Given the description of an element on the screen output the (x, y) to click on. 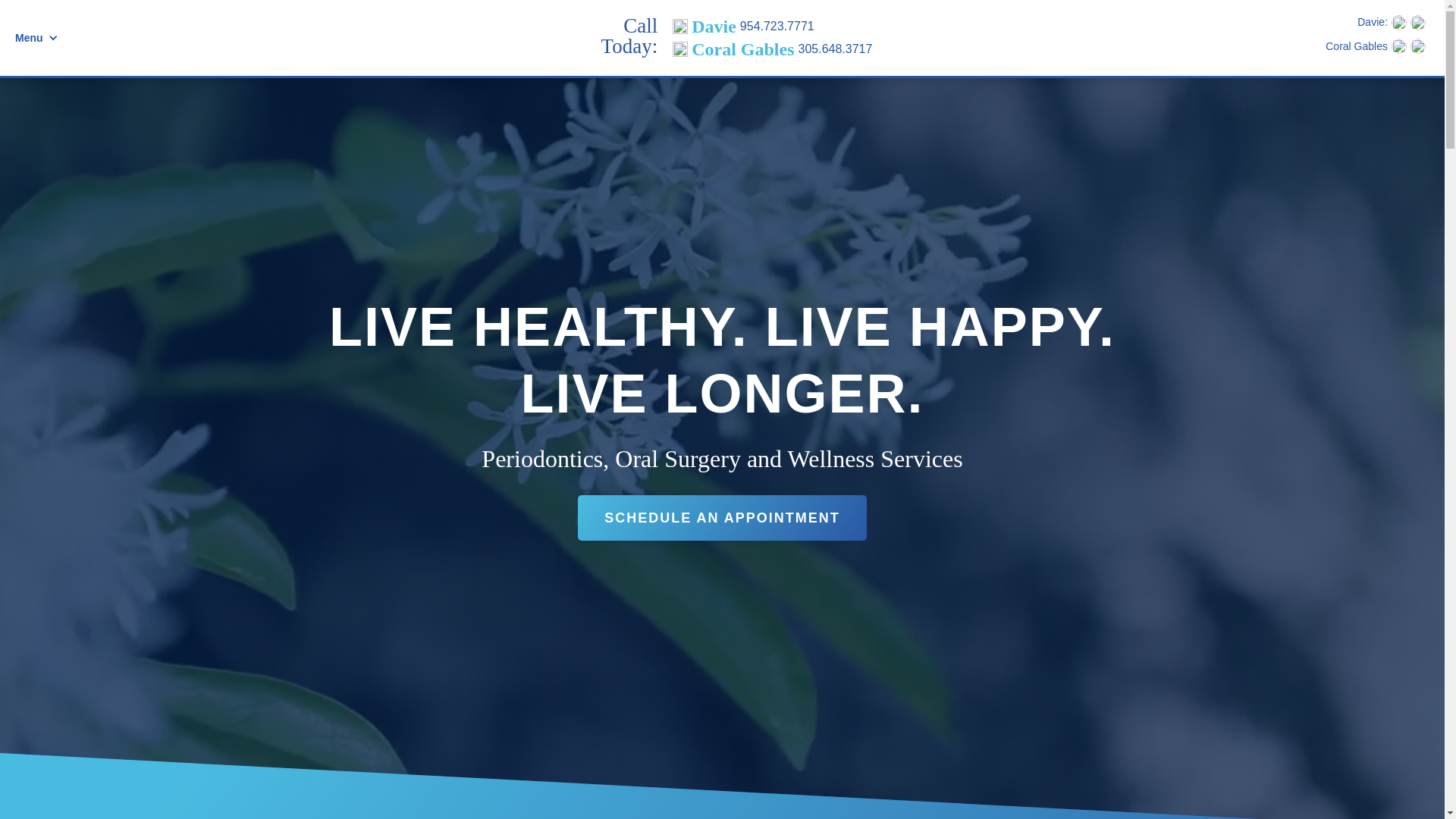
Davie
954.723.7771 Element type: text (772, 26)
SCHEDULE AN APPOINTMENT Element type: text (721, 517)
Coral Gables
305.648.3717 Element type: text (772, 48)
